Given the description of an element on the screen output the (x, y) to click on. 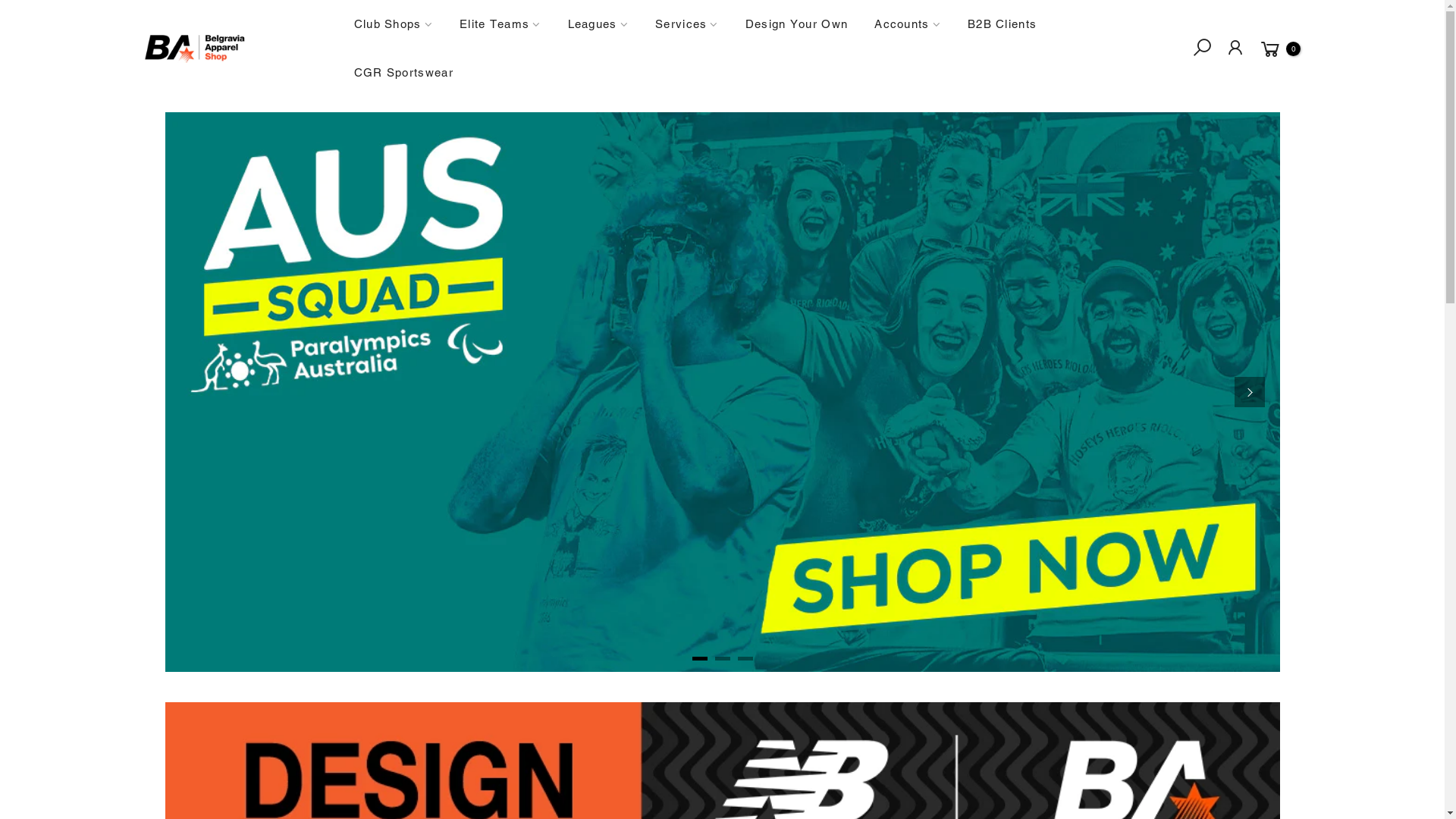
Paralympics Australia Element type: hover (722, 391)
Design Your Own Element type: text (796, 24)
CGR Sportswear Element type: text (403, 72)
Accounts Element type: text (907, 24)
Elite Teams Element type: text (499, 24)
Club Shops Element type: text (392, 24)
Leagues Element type: text (597, 24)
Services Element type: text (687, 24)
B2B Clients Element type: text (1001, 24)
0 Element type: text (1279, 48)
